Given the description of an element on the screen output the (x, y) to click on. 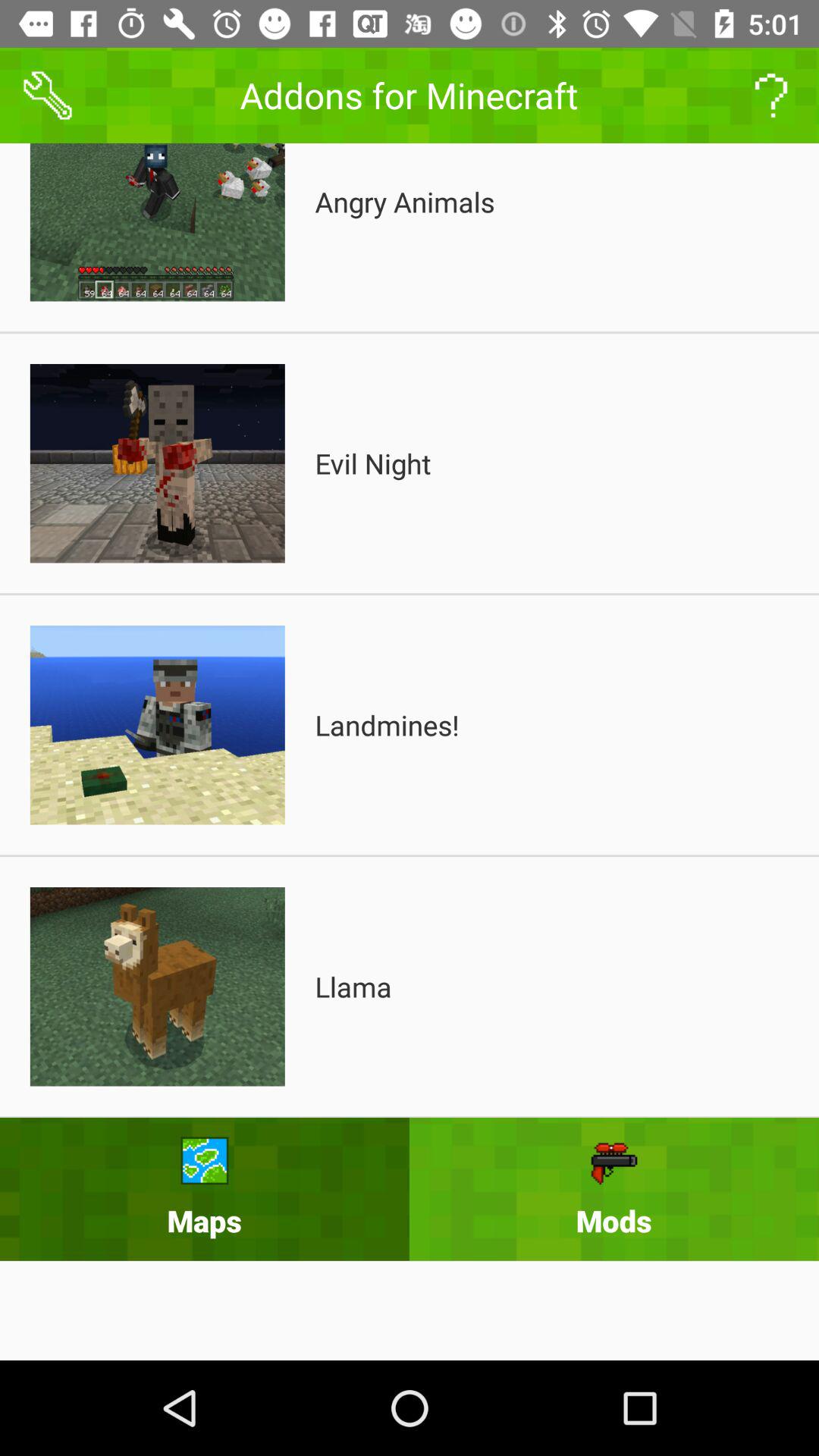
press icon next to addons for minecraft icon (771, 95)
